Given the description of an element on the screen output the (x, y) to click on. 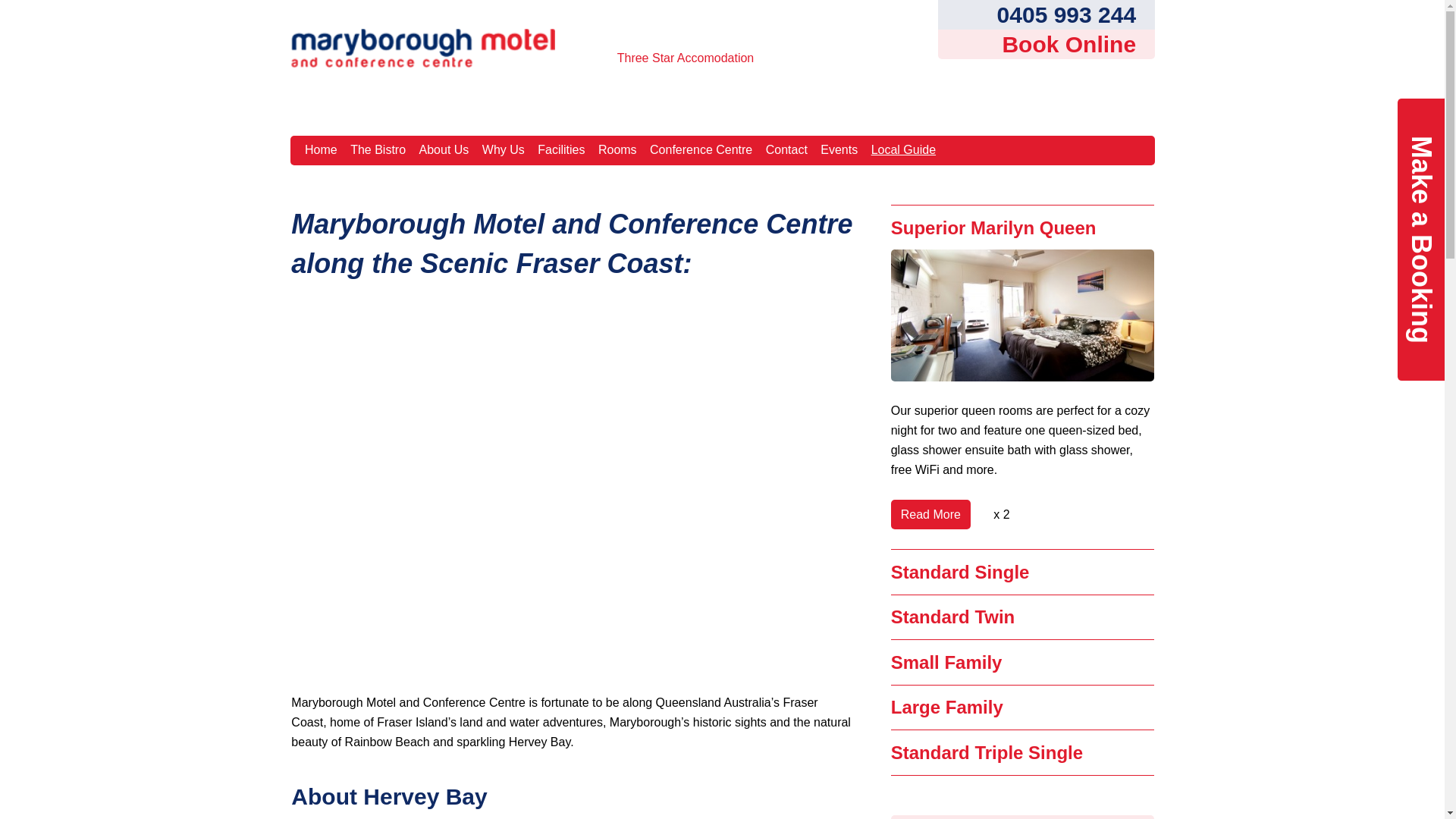
Rooms Element type: text (617, 150)
Superior Marilyn Queen Element type: text (993, 226)
Large Family Element type: text (947, 706)
Book Online Element type: text (1045, 44)
Facilities Element type: text (561, 150)
Local Guide Element type: text (903, 150)
Standard Single Element type: text (960, 571)
Read More Element type: text (930, 514)
Small Family Element type: text (946, 662)
The Bistro Element type: text (378, 150)
0405 993 244 Element type: text (1045, 14)
Standard Twin Element type: text (953, 616)
About Us Element type: text (443, 150)
Contact Element type: text (786, 150)
Home Element type: text (321, 150)
Why Us Element type: text (502, 150)
Standard Triple Single Element type: text (986, 752)
Conference Centre Element type: text (701, 150)
Events Element type: text (838, 150)
